Given the description of an element on the screen output the (x, y) to click on. 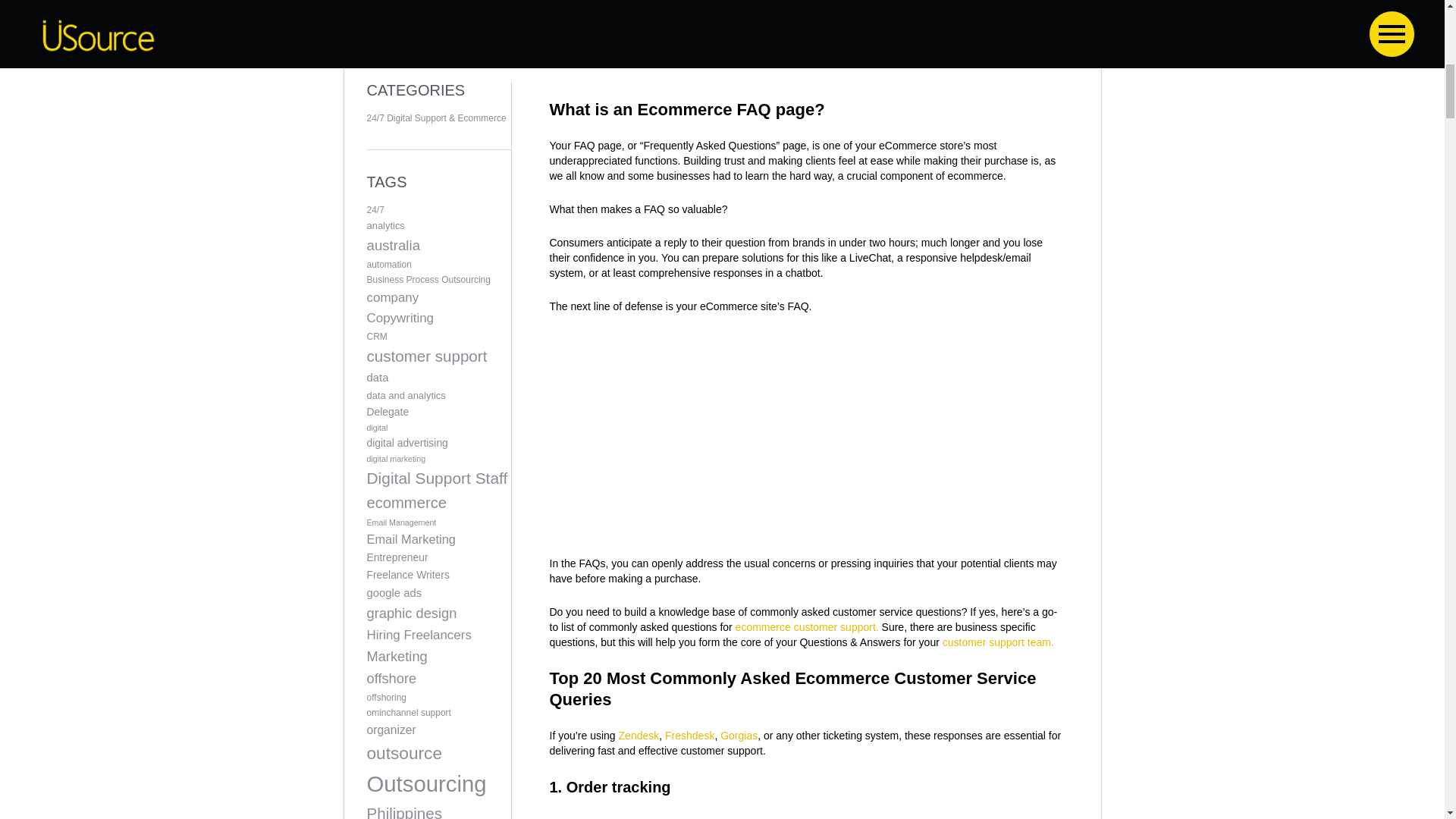
australia (438, 246)
Delegate (438, 412)
digital advertising (438, 443)
Copywriting (438, 318)
automation (438, 264)
customer support (438, 357)
Business Process Outsourcing (438, 280)
CRM (438, 337)
data (438, 378)
company (438, 298)
analytics (438, 226)
data and analytics (438, 396)
digital (438, 427)
